Given the description of an element on the screen output the (x, y) to click on. 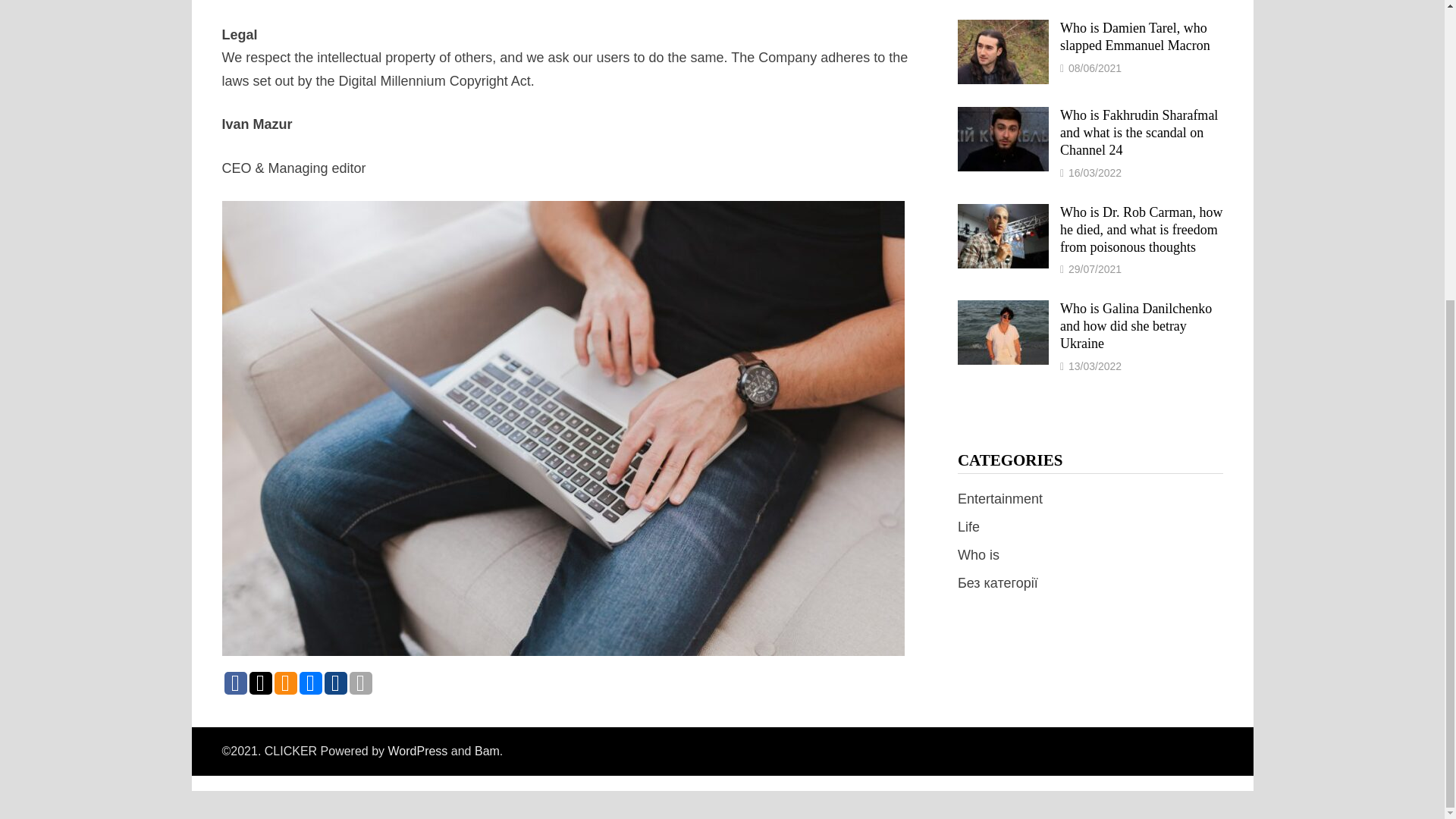
Who is Damien Tarel, who slapped Emmanuel Macron (1003, 29)
Who is Damien Tarel, who slapped Emmanuel Macron (1134, 36)
Who is Galina Danilchenko and how did she betray Ukraine (1003, 309)
